Given the description of an element on the screen output the (x, y) to click on. 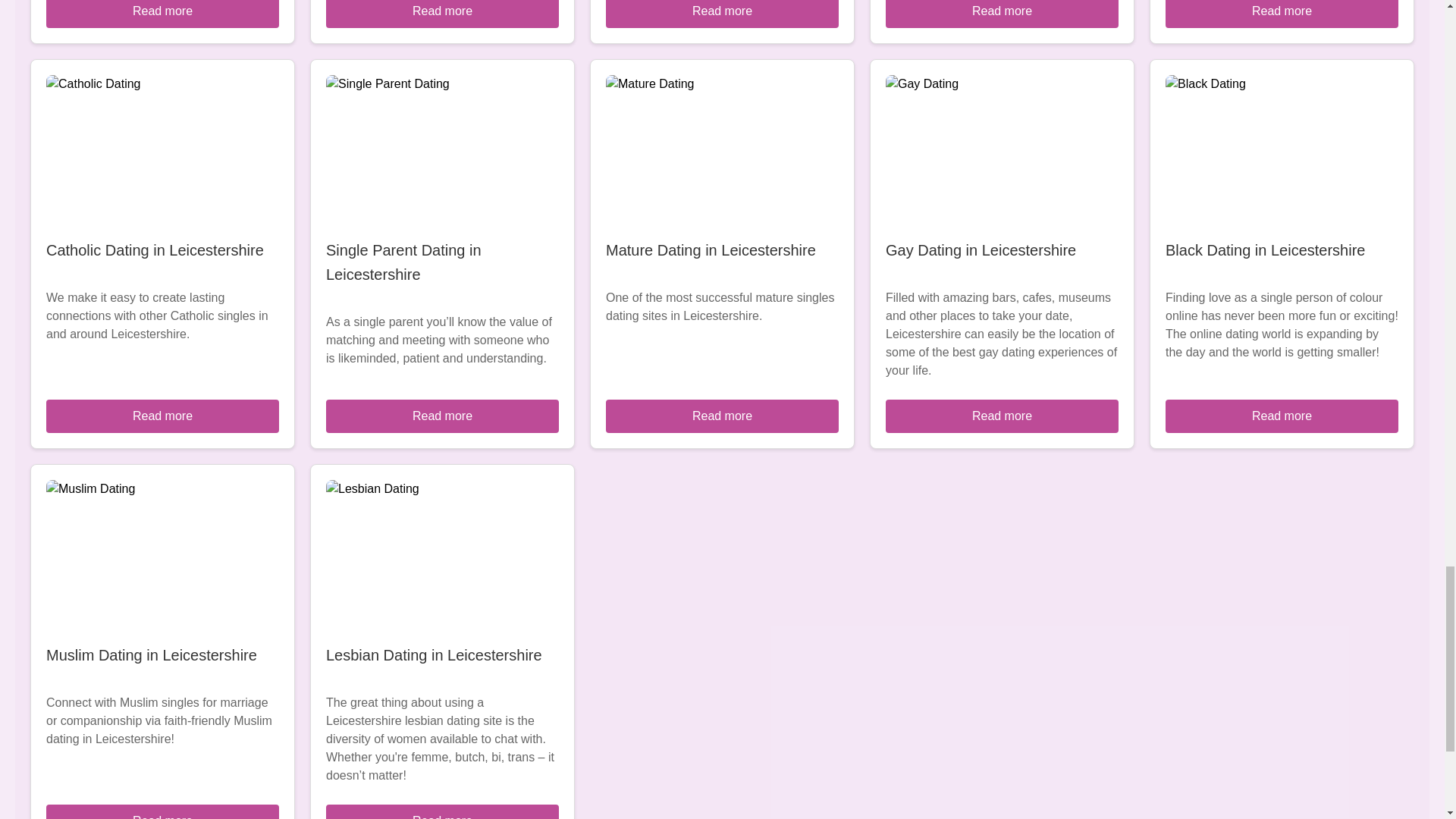
Read more (1001, 13)
Read more (162, 811)
Read more (1281, 13)
Read more (1281, 416)
Read more (162, 13)
Read more (442, 13)
Read more (721, 416)
Read more (442, 811)
Read more (1001, 416)
Read more (162, 416)
